Given the description of an element on the screen output the (x, y) to click on. 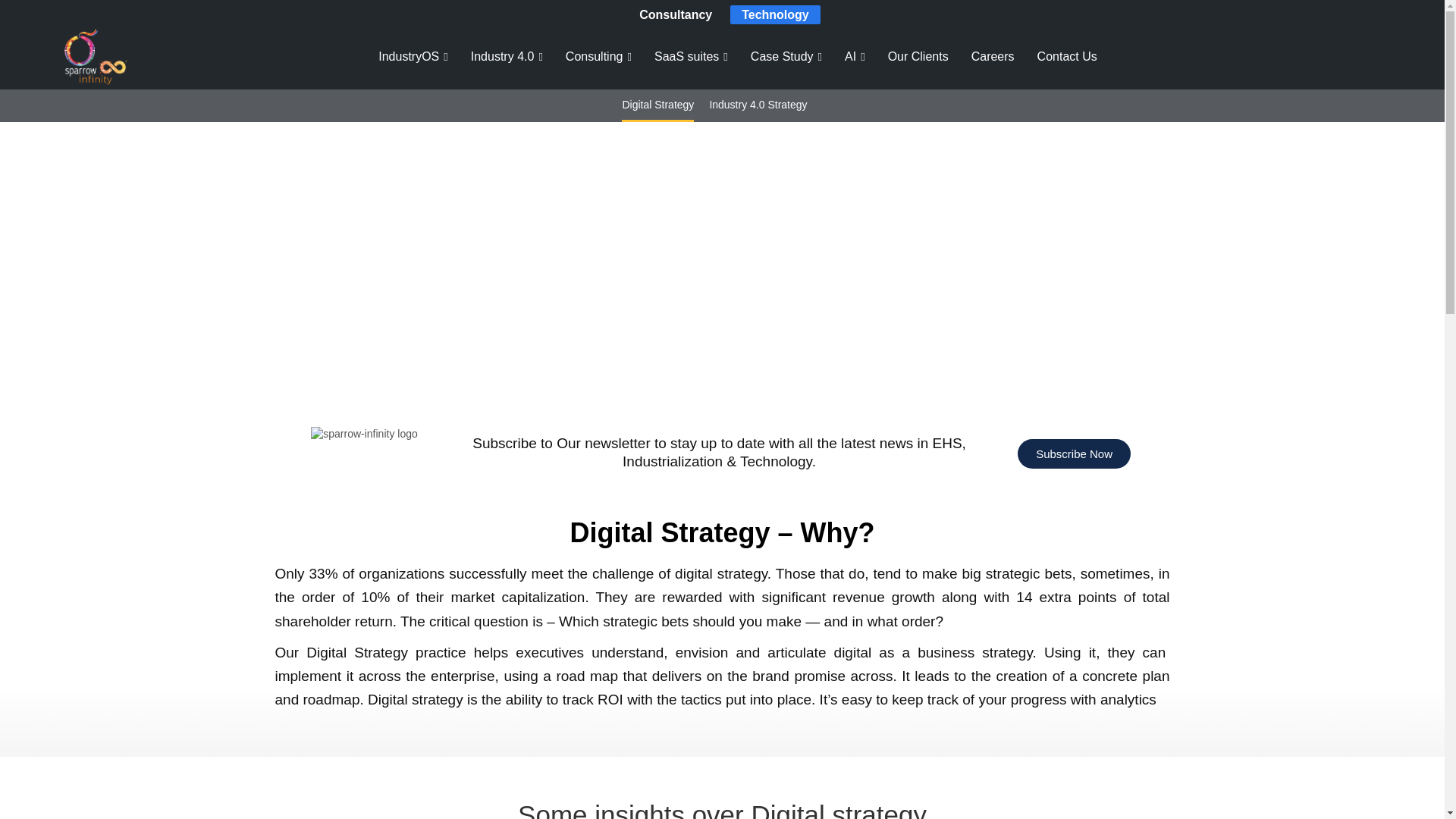
Our Clients (918, 57)
Careers (992, 57)
IndustryOS (408, 57)
Industry 4.0 Strategy (757, 105)
Industry 4.0 (502, 57)
AI (850, 57)
SaaS suites (686, 57)
Contact Us (1066, 57)
Technology (775, 14)
sparrow-infinity-logo (364, 434)
Digital Strategy (657, 105)
Consulting (594, 57)
Consultancy (675, 14)
Case Study (782, 57)
